Given the description of an element on the screen output the (x, y) to click on. 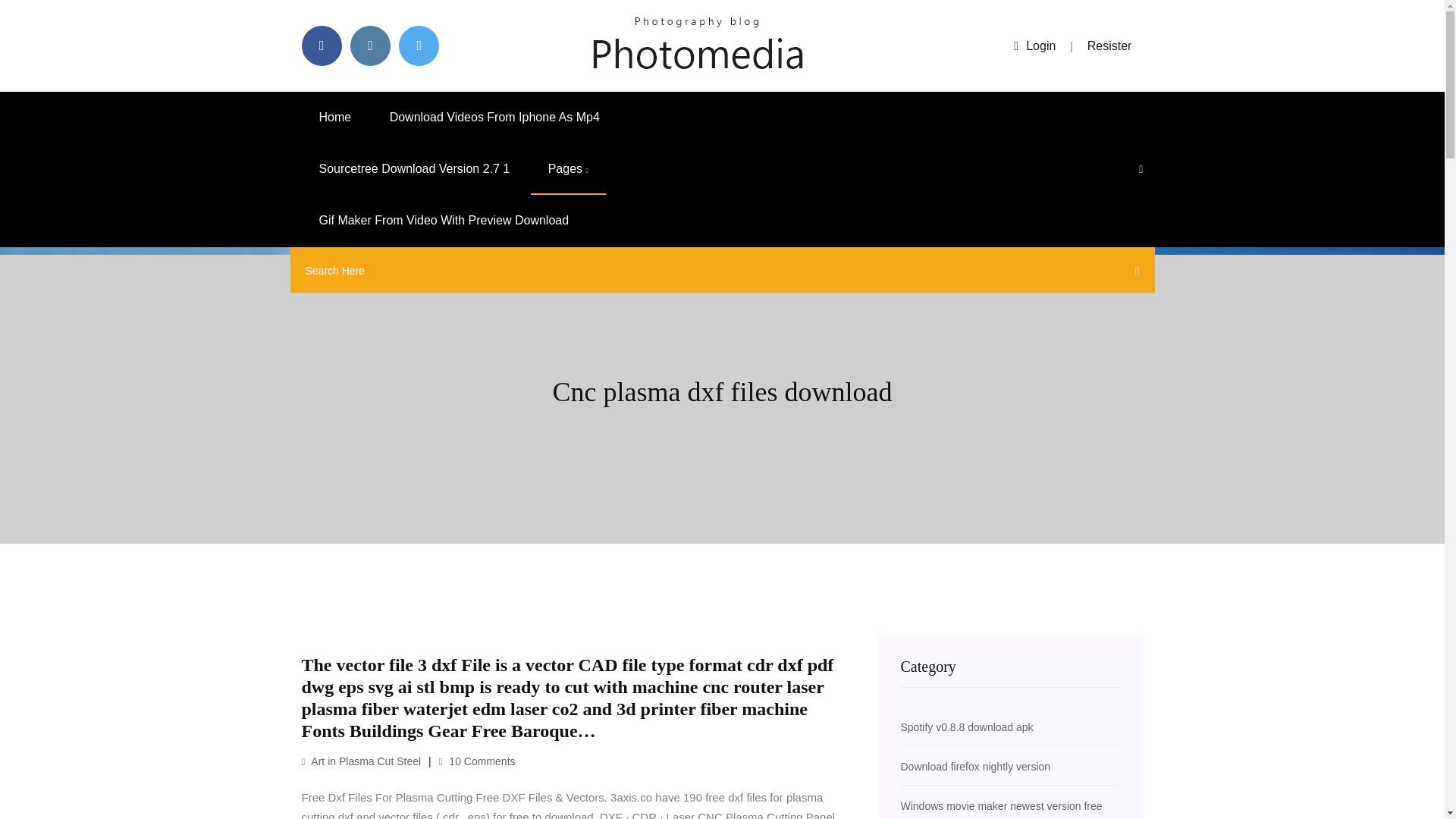
Resister (1109, 45)
10 Comments (477, 761)
Art in Plasma Cut Steel (361, 761)
Login (1034, 45)
Sourcetree Download Version 2.7 1 (414, 168)
Home (335, 117)
Download Videos From Iphone As Mp4 (494, 117)
Gif Maker From Video With Preview Download (443, 220)
Pages (568, 168)
